Given the description of an element on the screen output the (x, y) to click on. 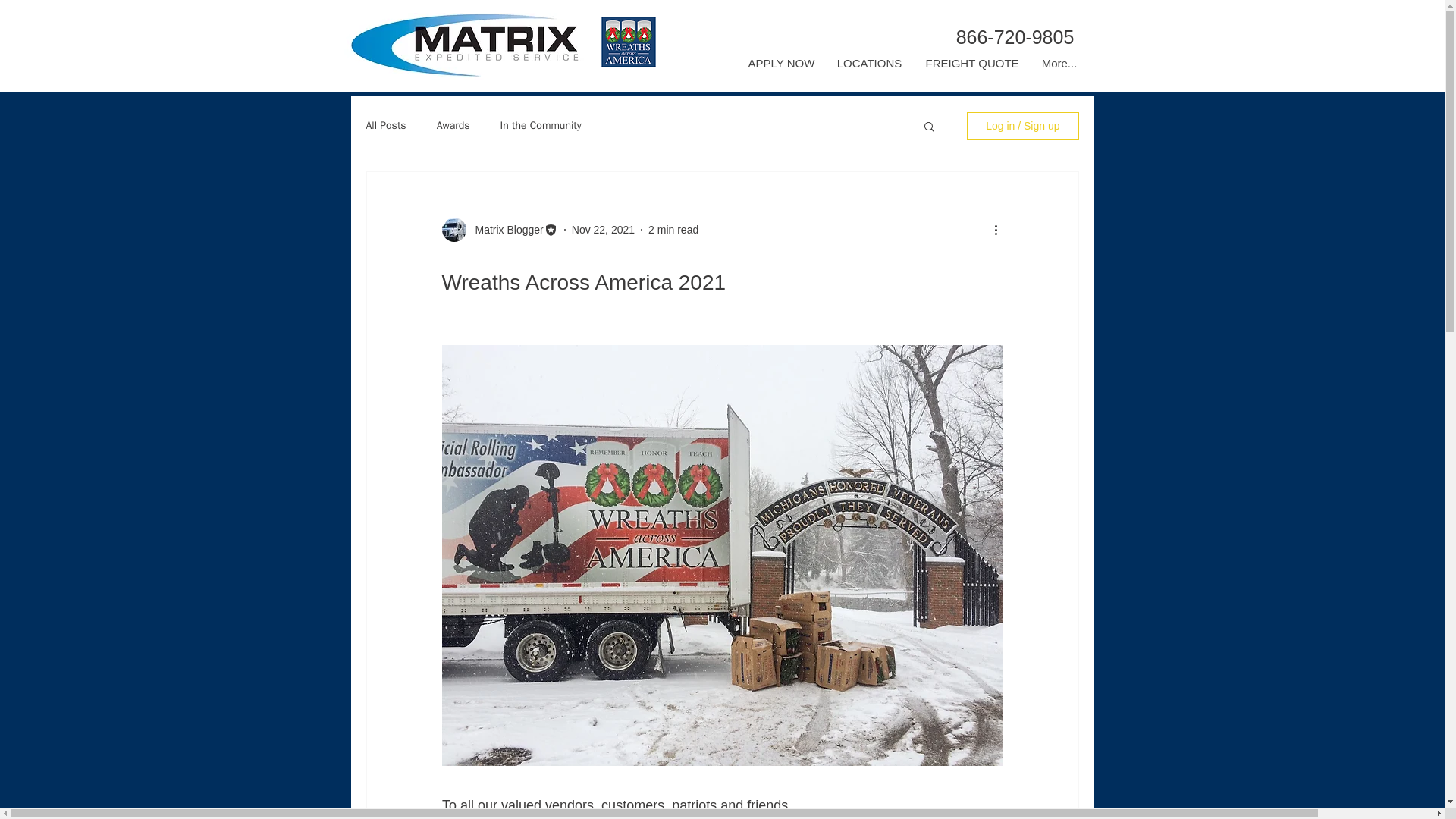
Matrix Blogger (504, 229)
LOCATIONS (869, 63)
In the Community (540, 125)
APPLY NOW (780, 63)
866-720-9805 (1015, 37)
FREIGHT QUOTE (969, 63)
2 min read (672, 228)
Awards (453, 125)
Nov 22, 2021 (603, 228)
Facebook Like (548, 74)
